Given the description of an element on the screen output the (x, y) to click on. 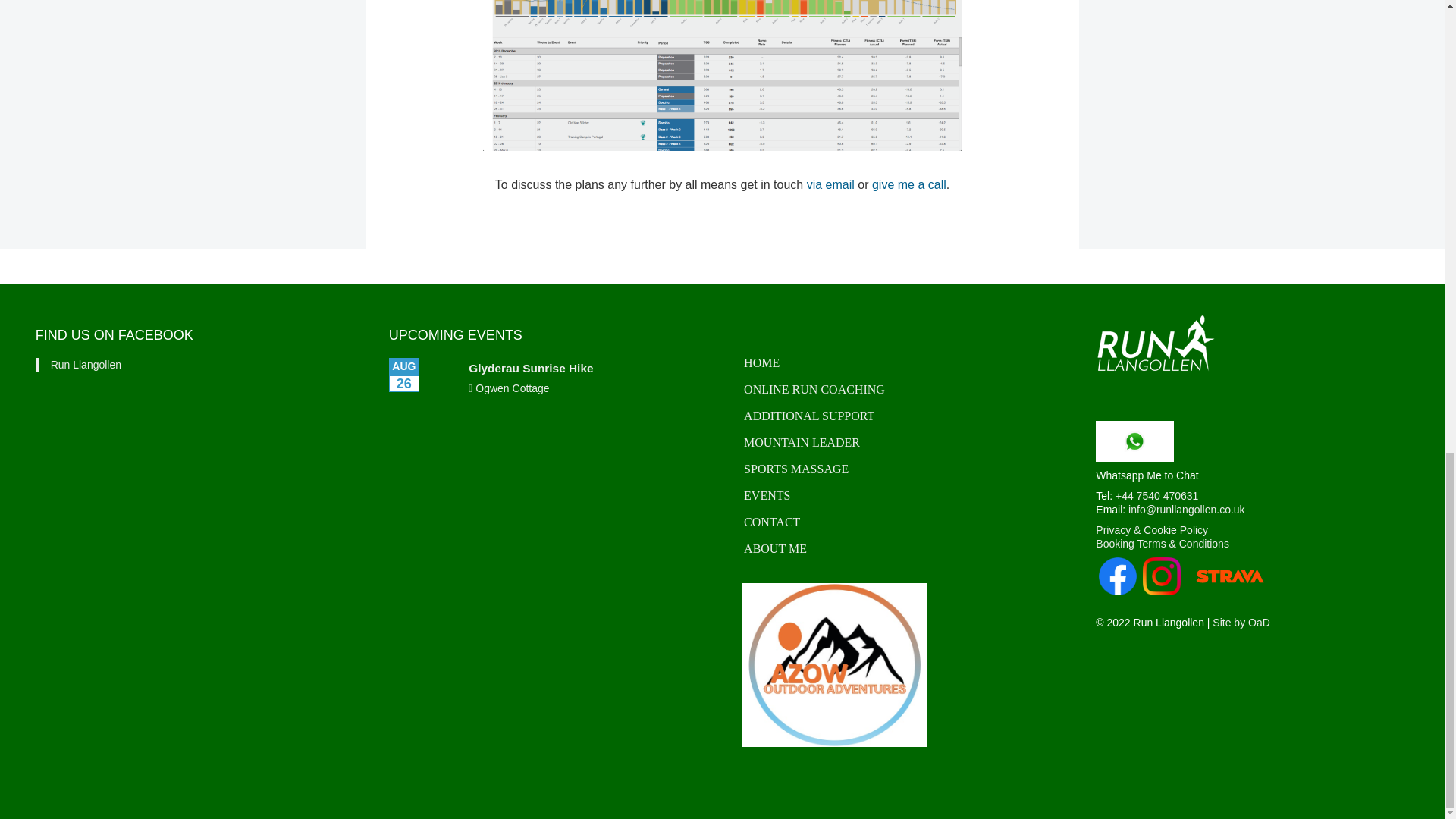
give me a call (909, 184)
via email (830, 184)
Run Llangollen (1155, 342)
Glyderau Sunrise Hike (530, 367)
Ogwen Cottage (512, 387)
SPORTS MASSAGE (898, 469)
ADDITIONAL SUPPORT (898, 416)
MOUNTAIN LEADER (898, 442)
ONLINE RUN COACHING (898, 389)
Run Llangollen (85, 364)
